Given the description of an element on the screen output the (x, y) to click on. 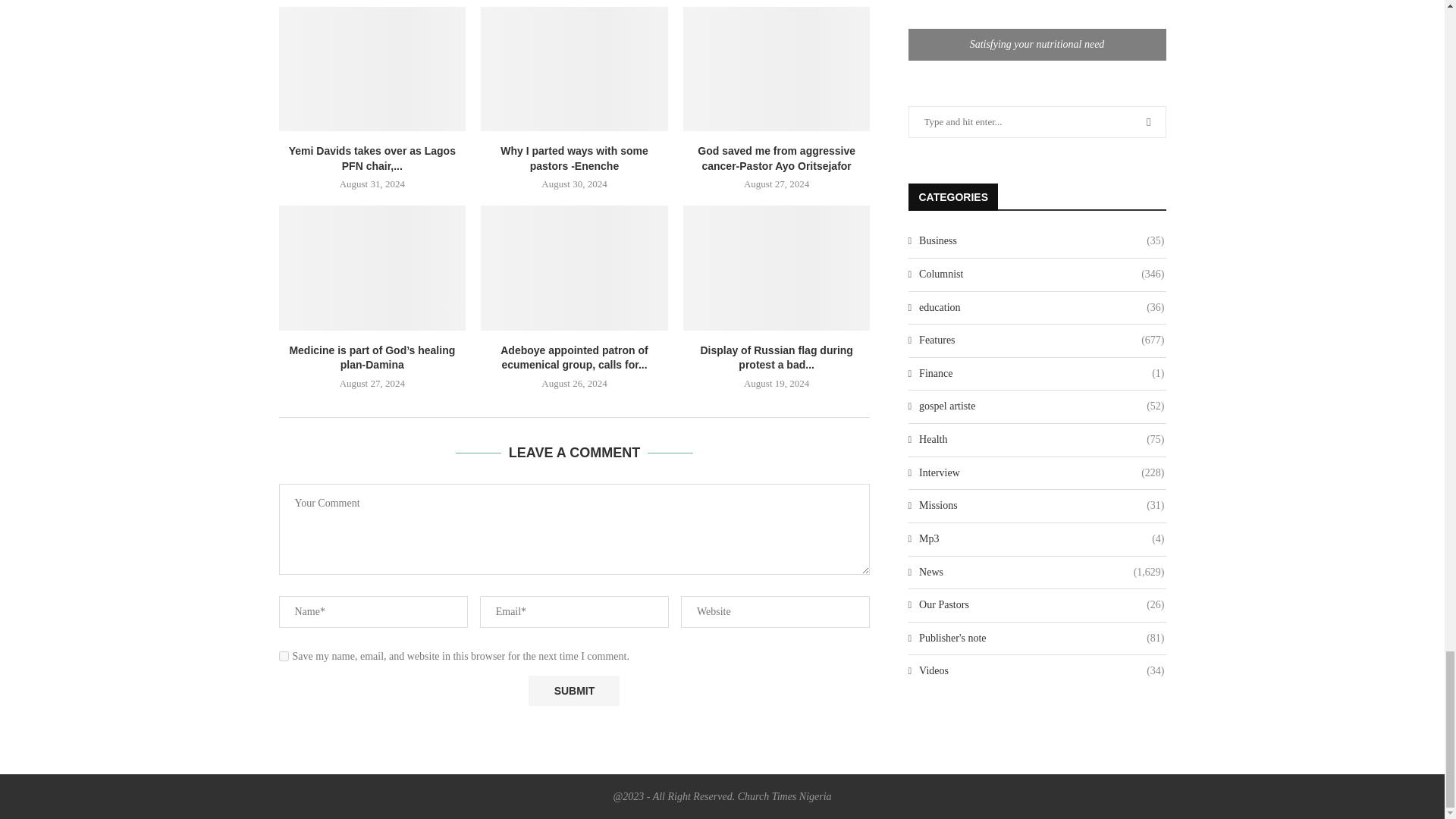
Submit (574, 690)
God saved me from aggressive cancer-Pastor Ayo Oritsejafor (776, 68)
yes (283, 655)
Why I parted ways with some pastors -Enenche (574, 68)
